Given the description of an element on the screen output the (x, y) to click on. 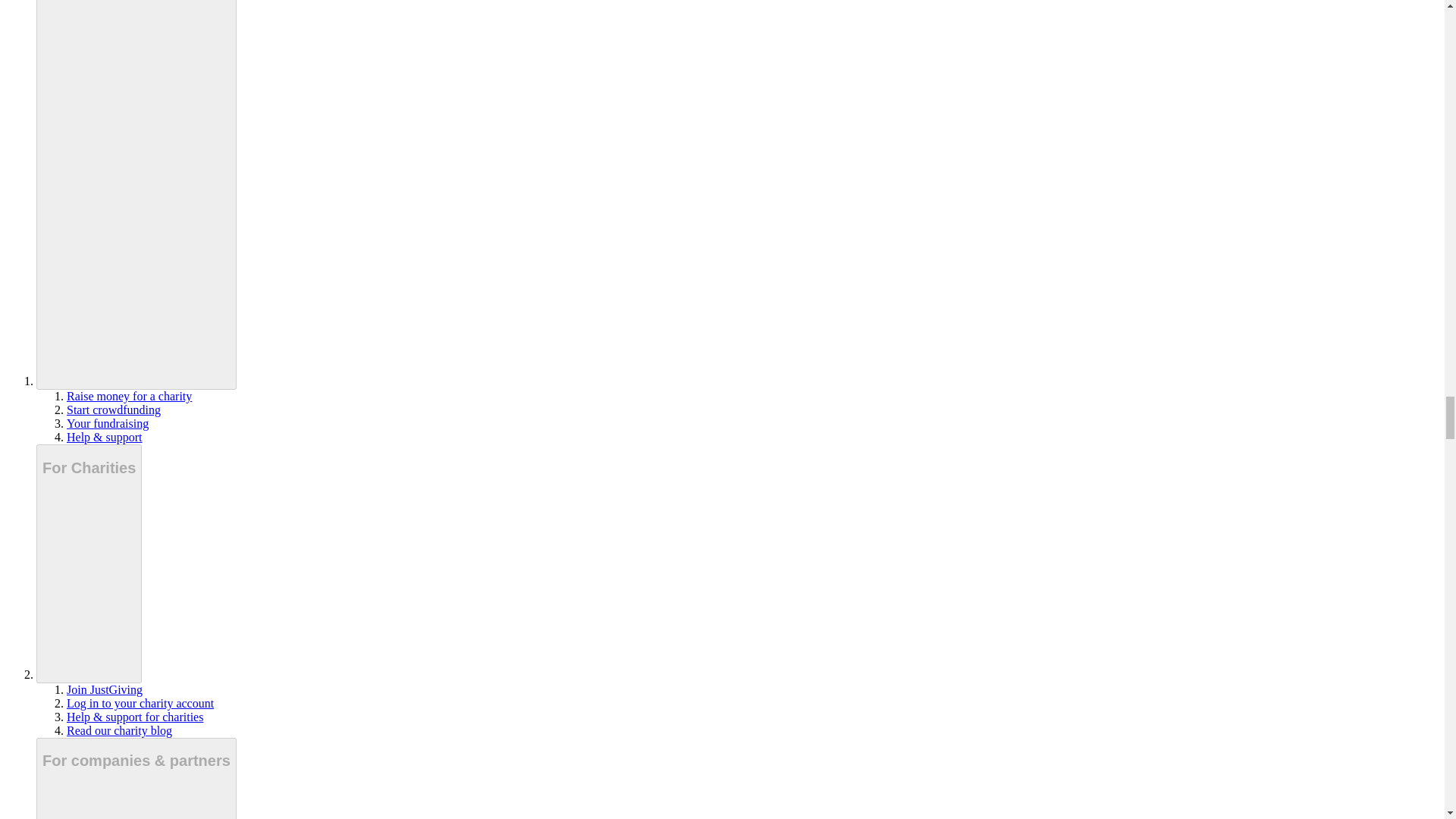
Raise money for a charity (129, 395)
Join JustGiving (104, 689)
Log in to your charity account (140, 703)
Start crowdfunding (113, 409)
Your fundraising (107, 422)
